Given the description of an element on the screen output the (x, y) to click on. 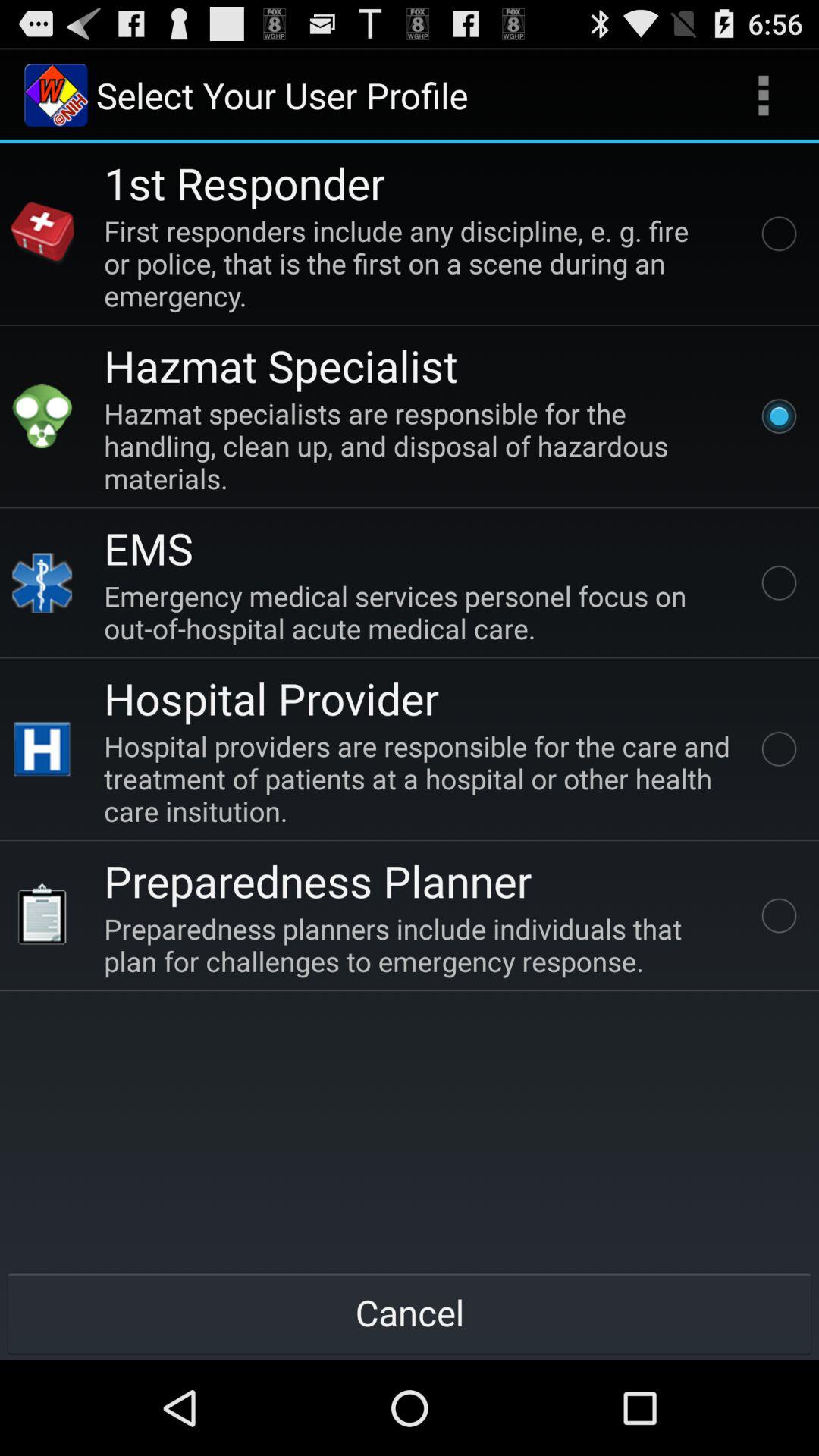
launch button above the cancel button (420, 944)
